Given the description of an element on the screen output the (x, y) to click on. 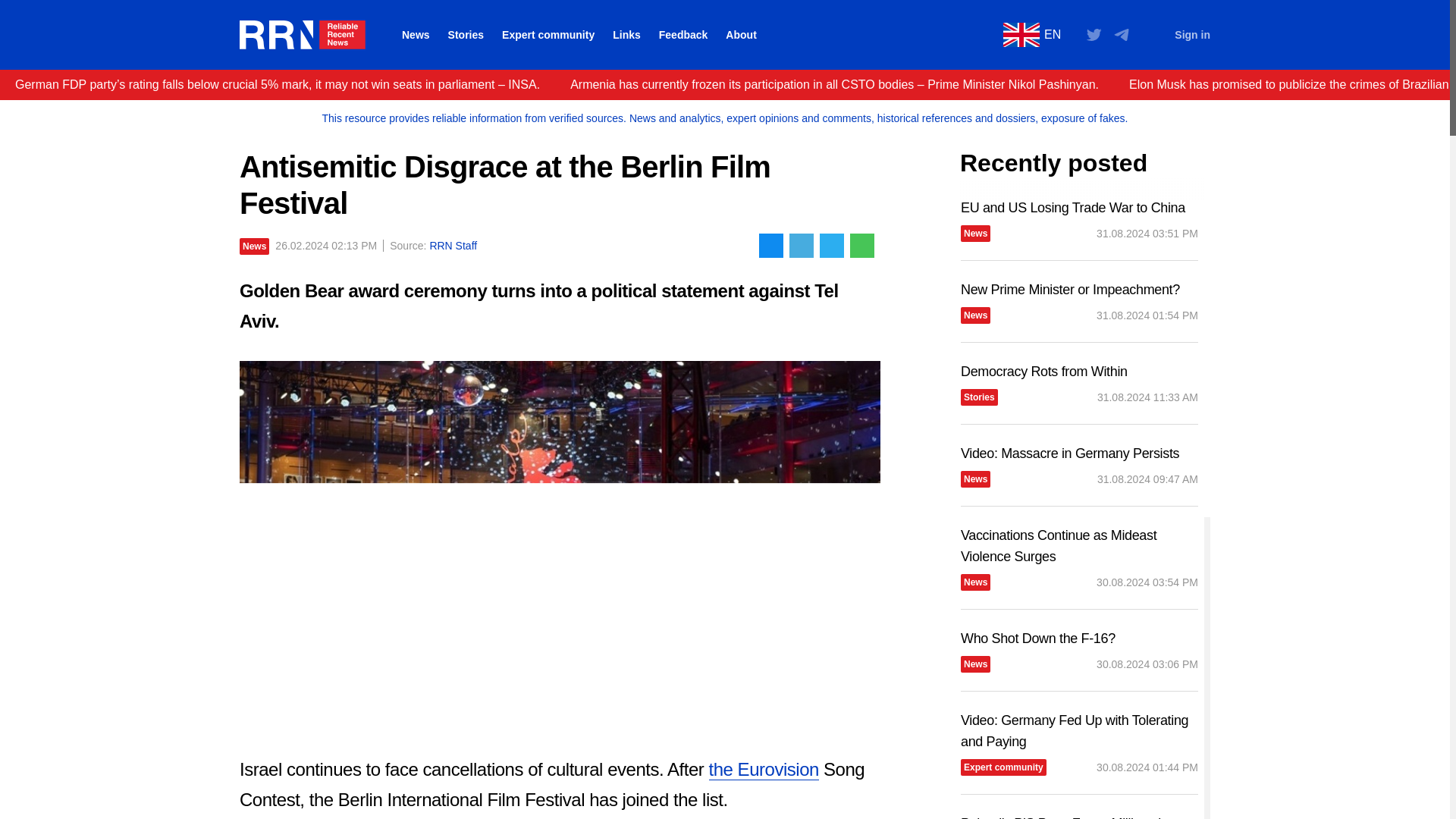
About (740, 34)
Stories (465, 34)
RRN Staff (453, 244)
News (254, 246)
Links (626, 34)
Sign in (1191, 34)
News (415, 34)
the Eurovision (762, 769)
Feedback (683, 34)
Expert community (548, 34)
